Given the description of an element on the screen output the (x, y) to click on. 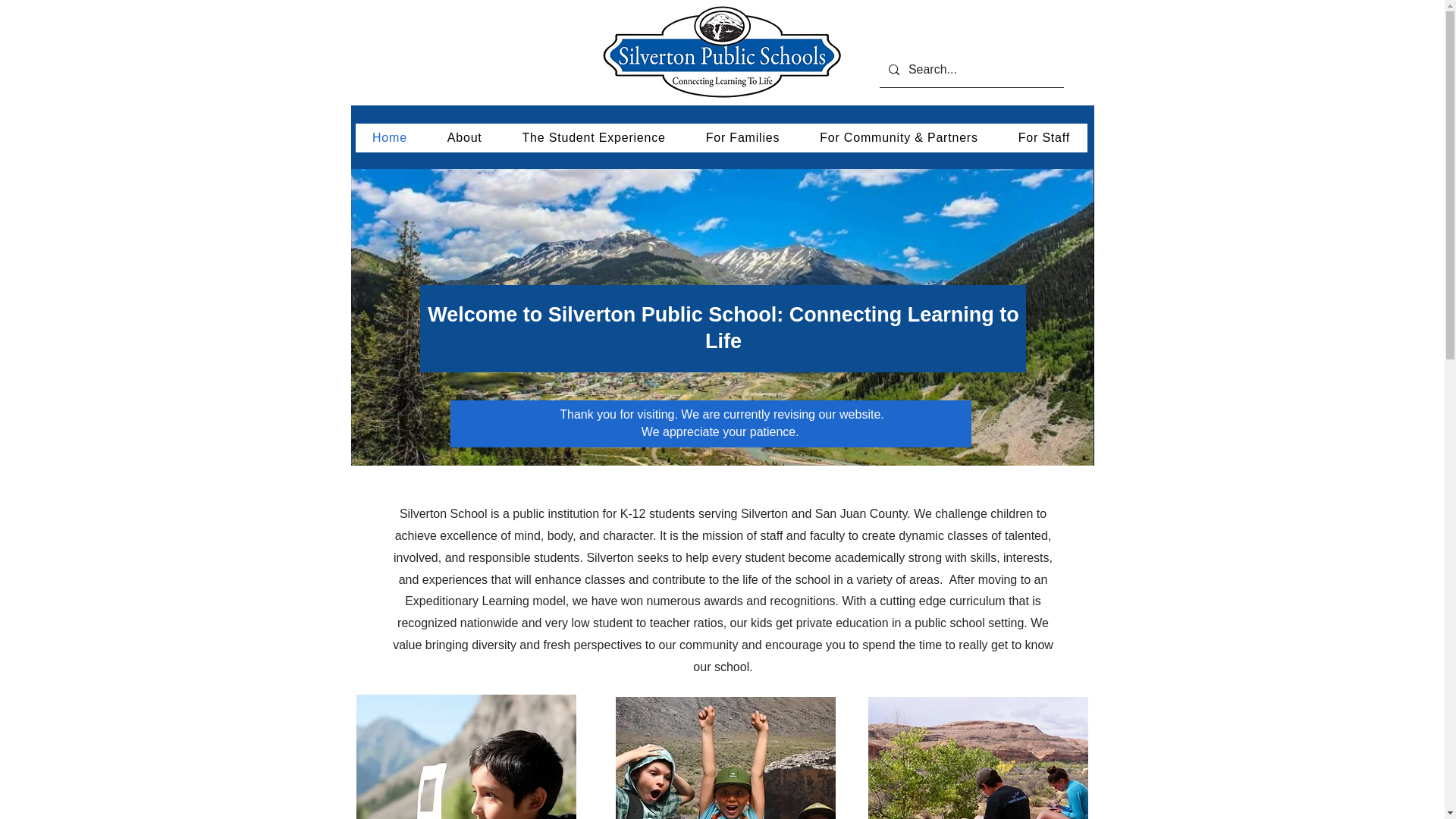
For Families (742, 137)
For Staff (1043, 137)
The Student Experience (593, 137)
About (464, 137)
Home (389, 137)
